Given the description of an element on the screen output the (x, y) to click on. 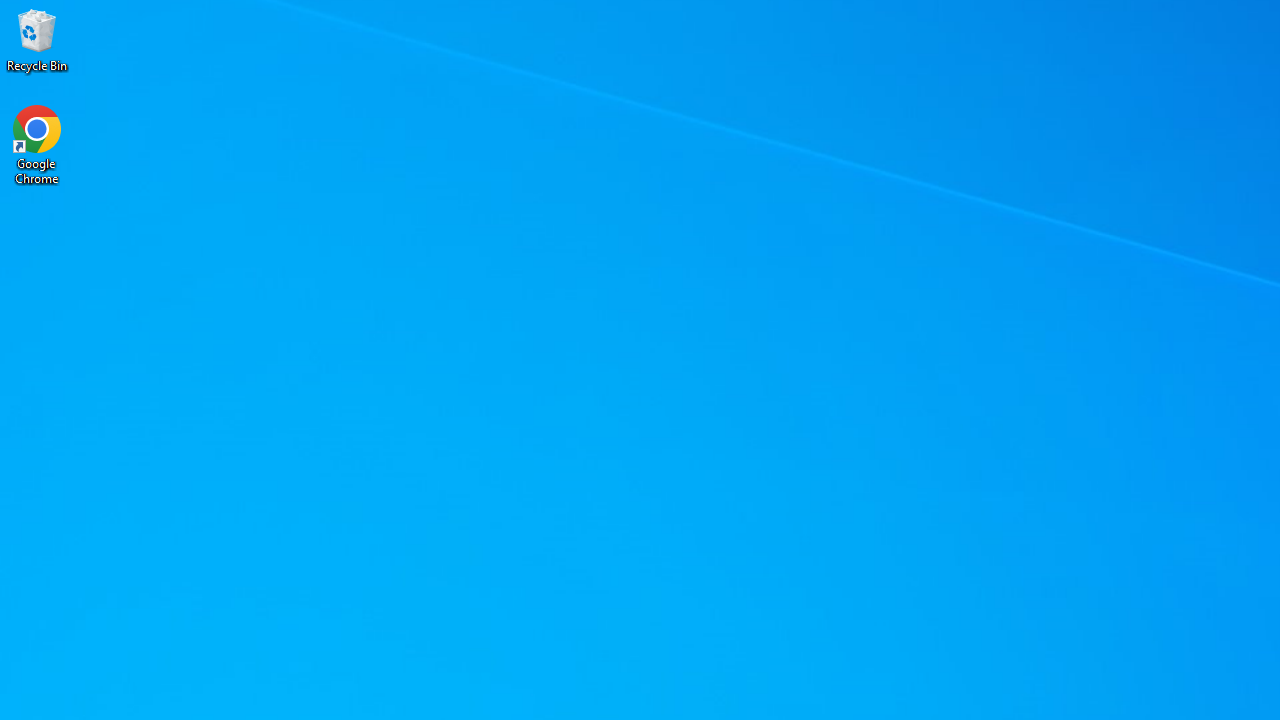
Google Chrome (37, 144)
Recycle Bin (37, 39)
